Given the description of an element on the screen output the (x, y) to click on. 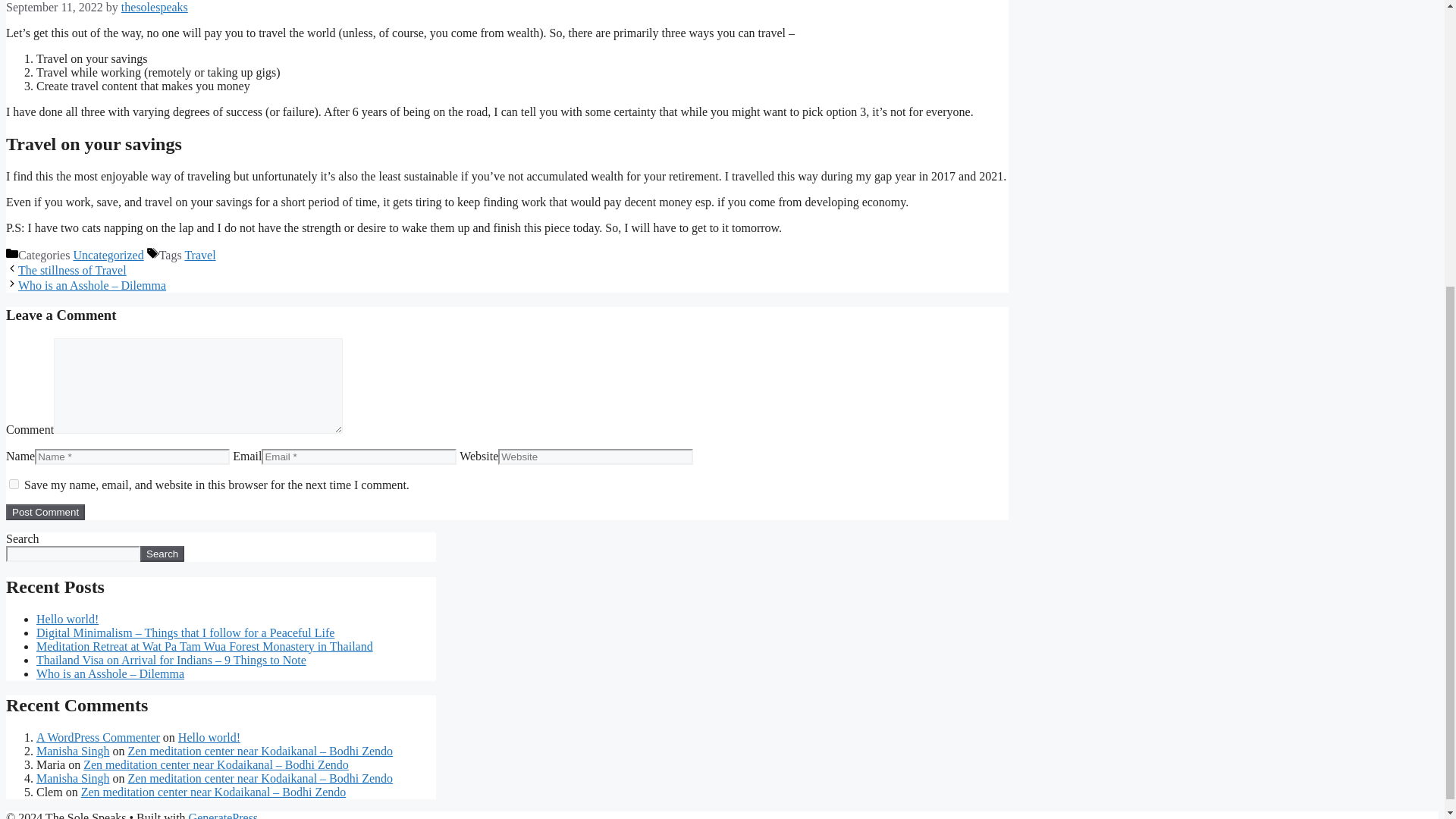
Post Comment (44, 512)
Uncategorized (107, 254)
A WordPress Commenter (98, 737)
yes (13, 483)
thesolespeaks (153, 6)
Post Comment (44, 512)
Travel (199, 254)
Search (161, 553)
View all posts by thesolespeaks (153, 6)
